Given the description of an element on the screen output the (x, y) to click on. 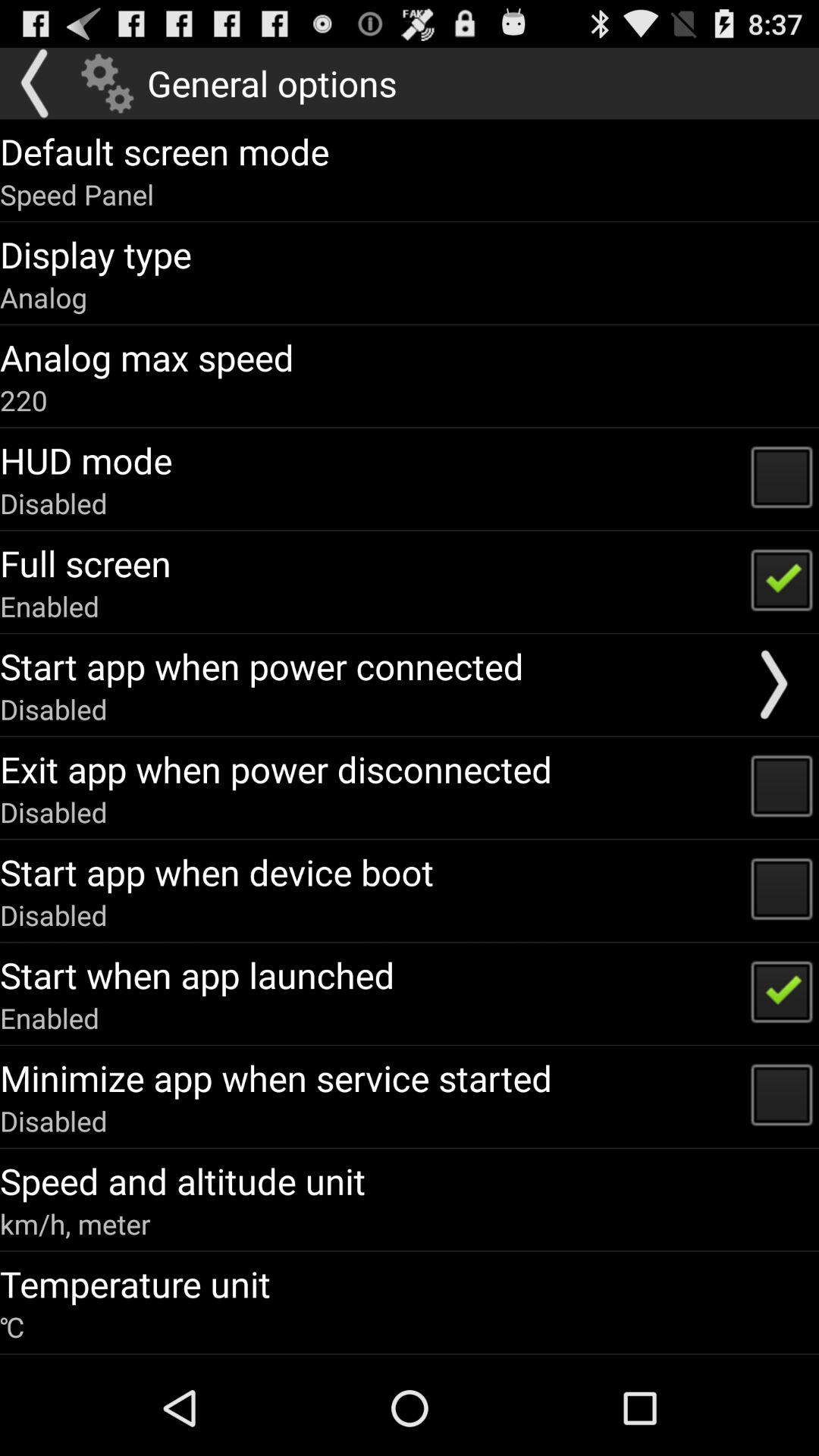
flip to the 220 (23, 400)
